Given the description of an element on the screen output the (x, y) to click on. 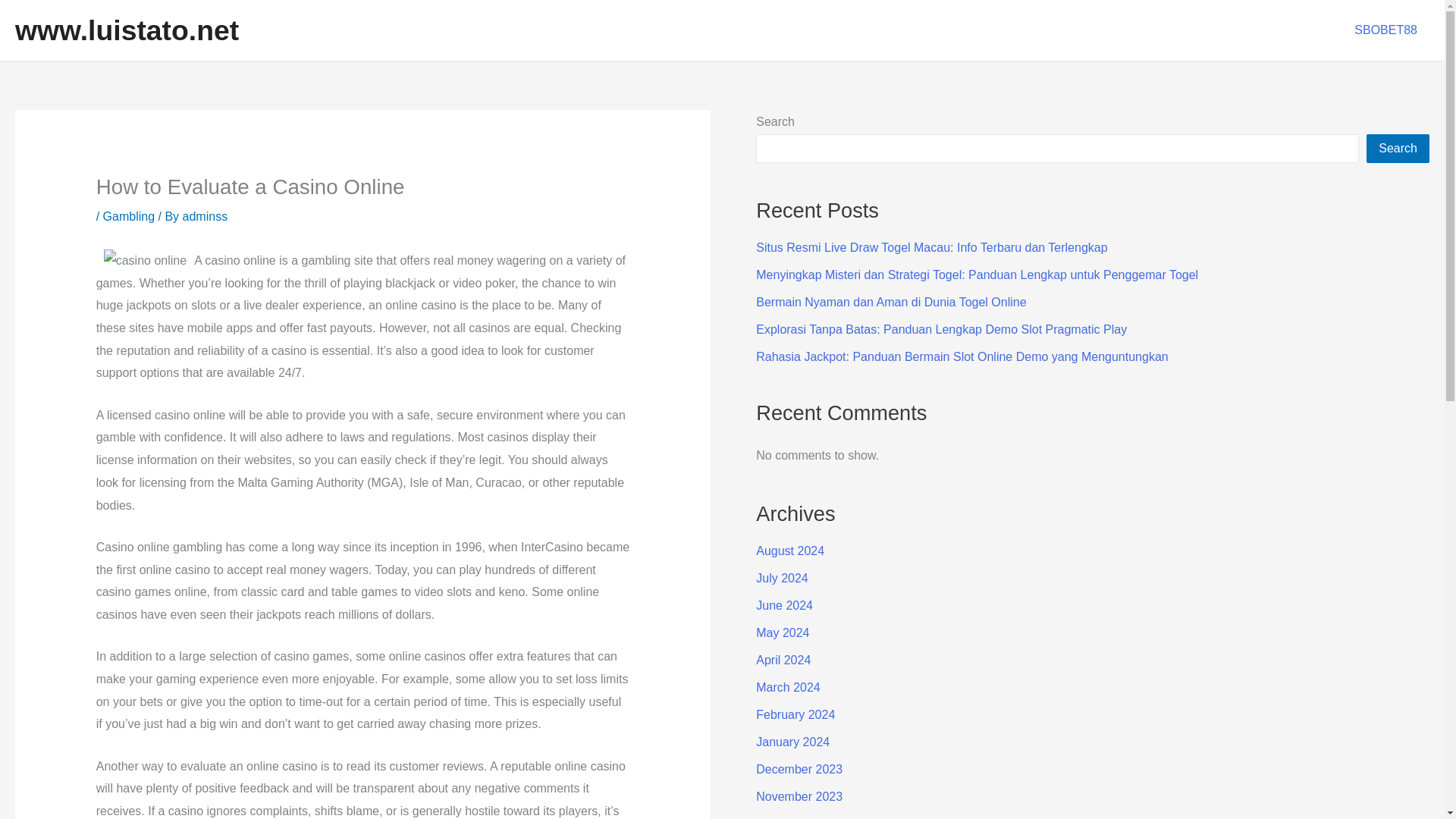
www.luistato.net (126, 29)
November 2023 (799, 796)
View all posts by adminss (205, 215)
Search (1398, 148)
January 2024 (792, 741)
Bermain Nyaman dan Aman di Dunia Togel Online (890, 301)
April 2024 (782, 659)
December 2023 (799, 768)
